Given the description of an element on the screen output the (x, y) to click on. 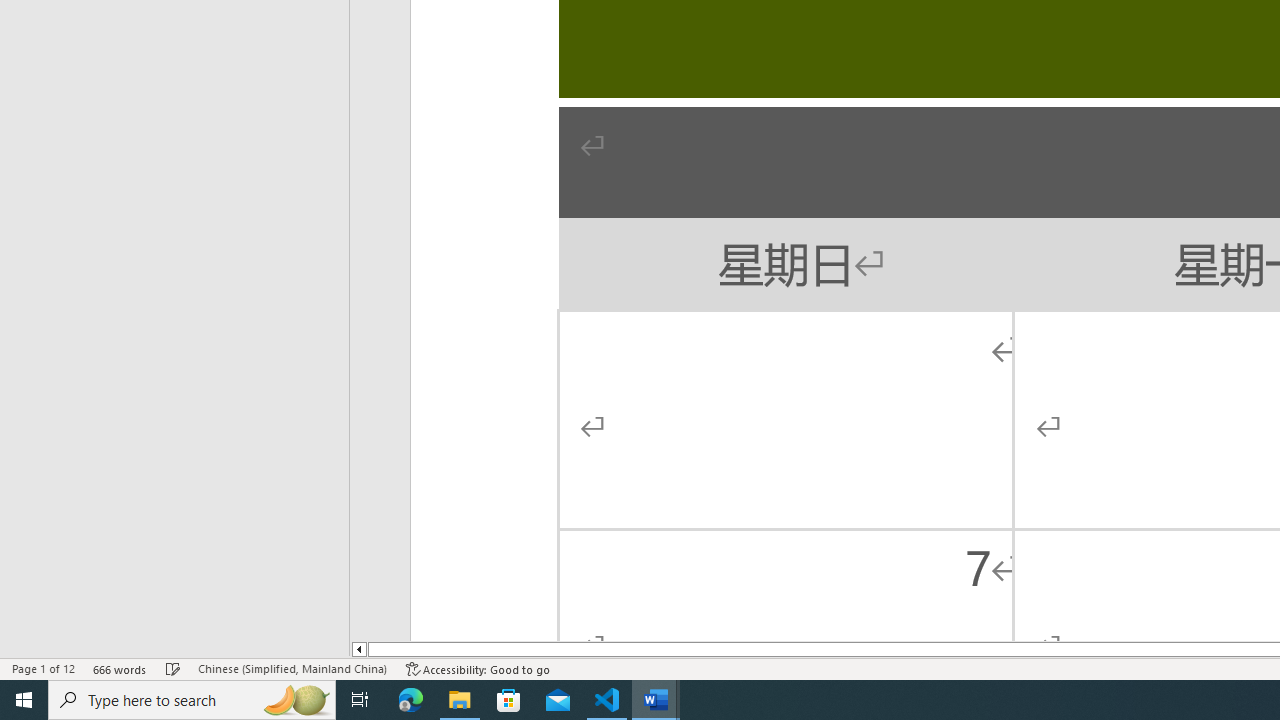
Accessibility Checker Accessibility: Good to go (478, 668)
Column left (358, 649)
Language Chinese (Simplified, Mainland China) (292, 668)
Page Number Page 1 of 12 (43, 668)
Word Count 666 words (119, 668)
Spelling and Grammar Check Checking (173, 668)
